Given the description of an element on the screen output the (x, y) to click on. 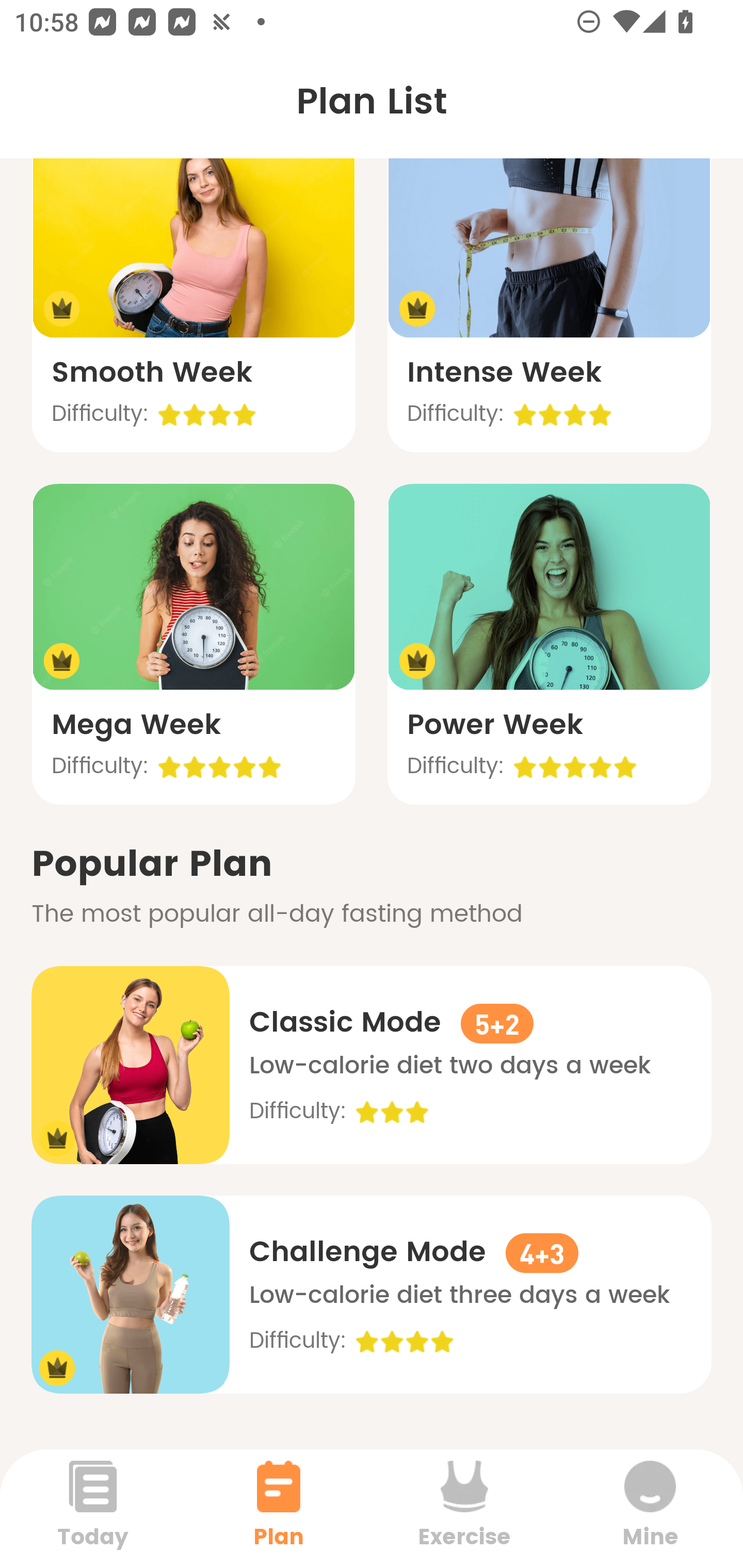
Smooth Week Difficulty: 4.0 (193, 291)
Intense Week Difficulty: 4.0 (549, 291)
Mega Week Difficulty: 5.0 (193, 644)
Power Week Difficulty: 5.0 (549, 644)
Today (92, 1508)
Exercise (464, 1508)
Mine (650, 1508)
